Given the description of an element on the screen output the (x, y) to click on. 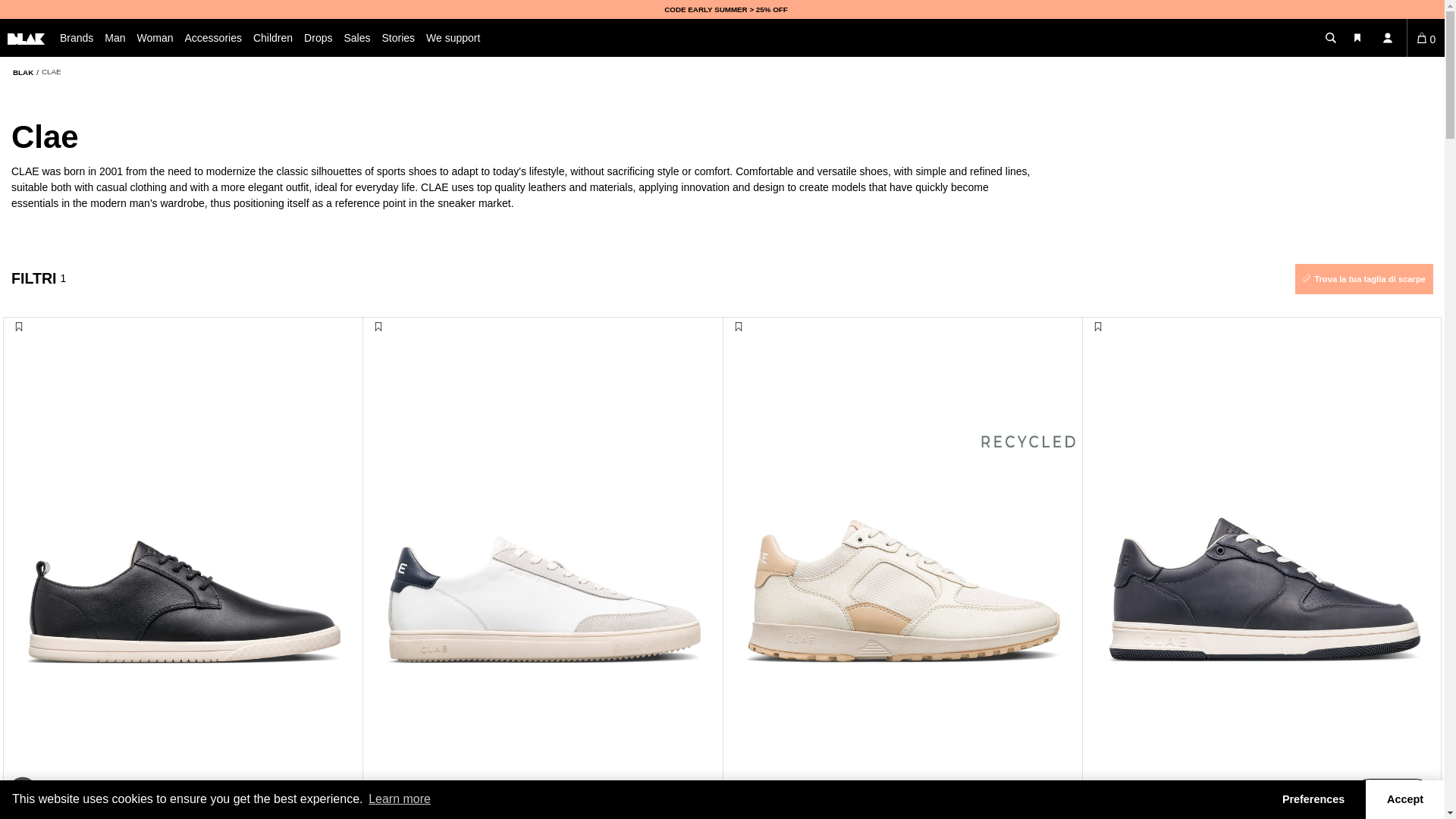
logo blakshop negozio streetwear casual online (26, 39)
Preferences (1312, 799)
Accept (1404, 799)
Brands (81, 37)
Learn more (399, 798)
Brands (81, 37)
